Given the description of an element on the screen output the (x, y) to click on. 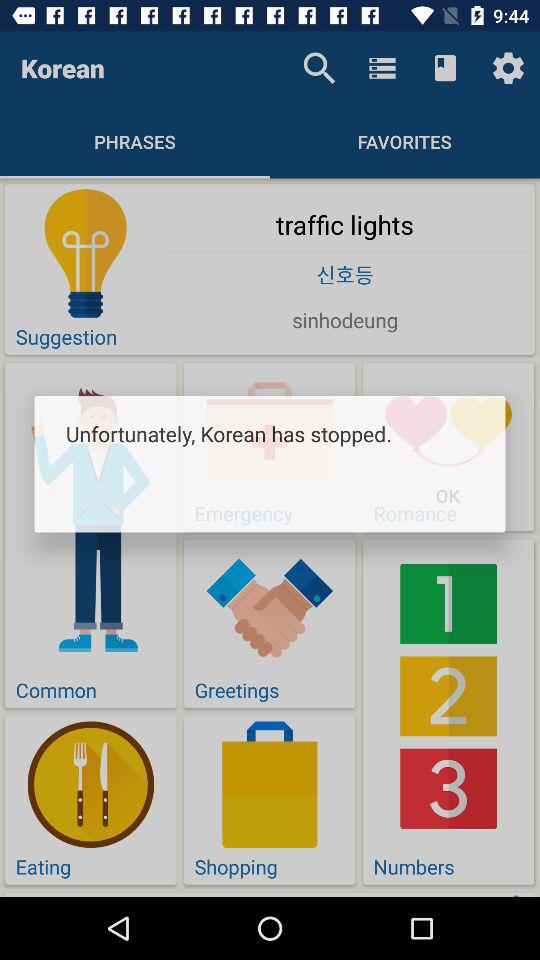
go to favorites (405, 141)
click on the wishlist icon (445, 68)
